Given the description of an element on the screen output the (x, y) to click on. 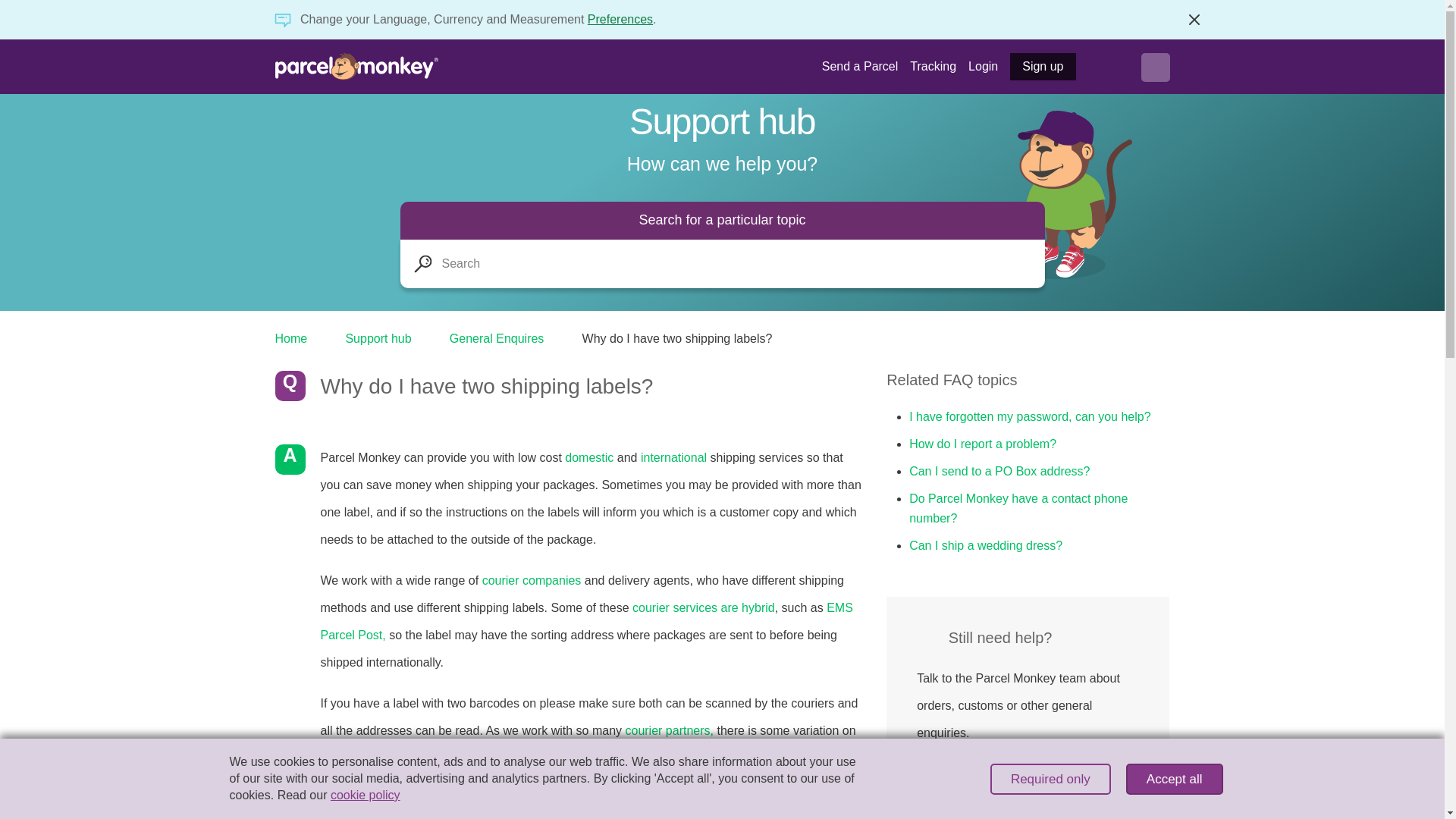
Do Parcel Monkey have a contact phone number? (1017, 507)
Support hub (379, 338)
I have forgotten my password, can you help? (1029, 415)
Sign up (1042, 66)
courier companies (530, 580)
Preferences (620, 19)
EMS Parcel Post,  (585, 621)
Can I ship a wedding dress? (985, 544)
courier services are hybrid (702, 607)
courier partners, (668, 730)
domestic (588, 457)
How do I report a problem? (982, 442)
Menu (1154, 67)
international (673, 457)
Ask us (956, 775)
